Given the description of an element on the screen output the (x, y) to click on. 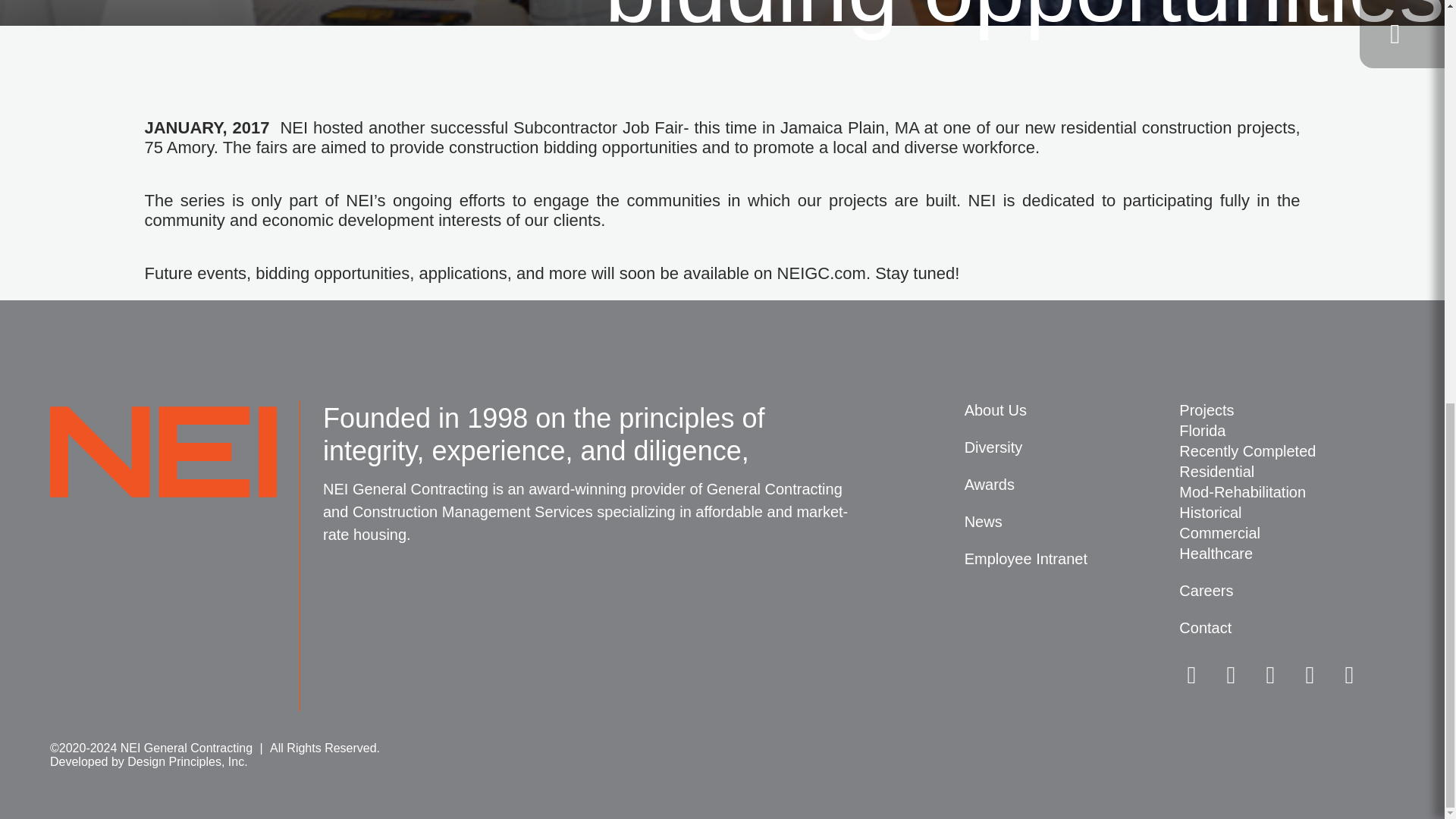
News (1071, 521)
Projects (1286, 410)
Residential (1286, 471)
Employee Intranet (1071, 558)
LinkedIn (1230, 674)
NEI General Contracting (162, 461)
Instagram (1270, 674)
Twitter (1191, 674)
Healthcare (1286, 553)
Mod-Rehabilitation (1286, 492)
